Given the description of an element on the screen output the (x, y) to click on. 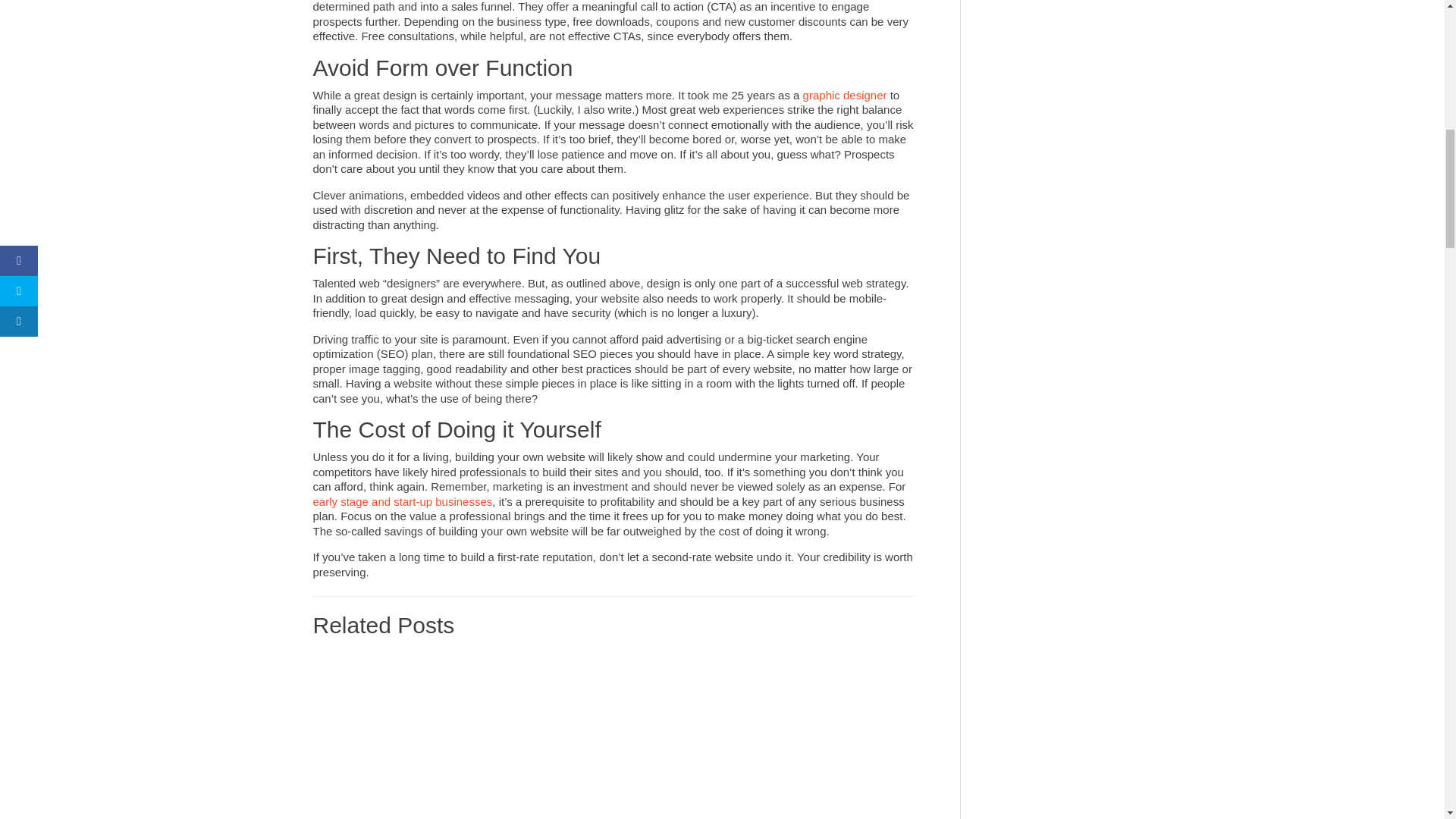
early stage and start-up businesses (402, 501)
graphic designer (844, 94)
